Given the description of an element on the screen output the (x, y) to click on. 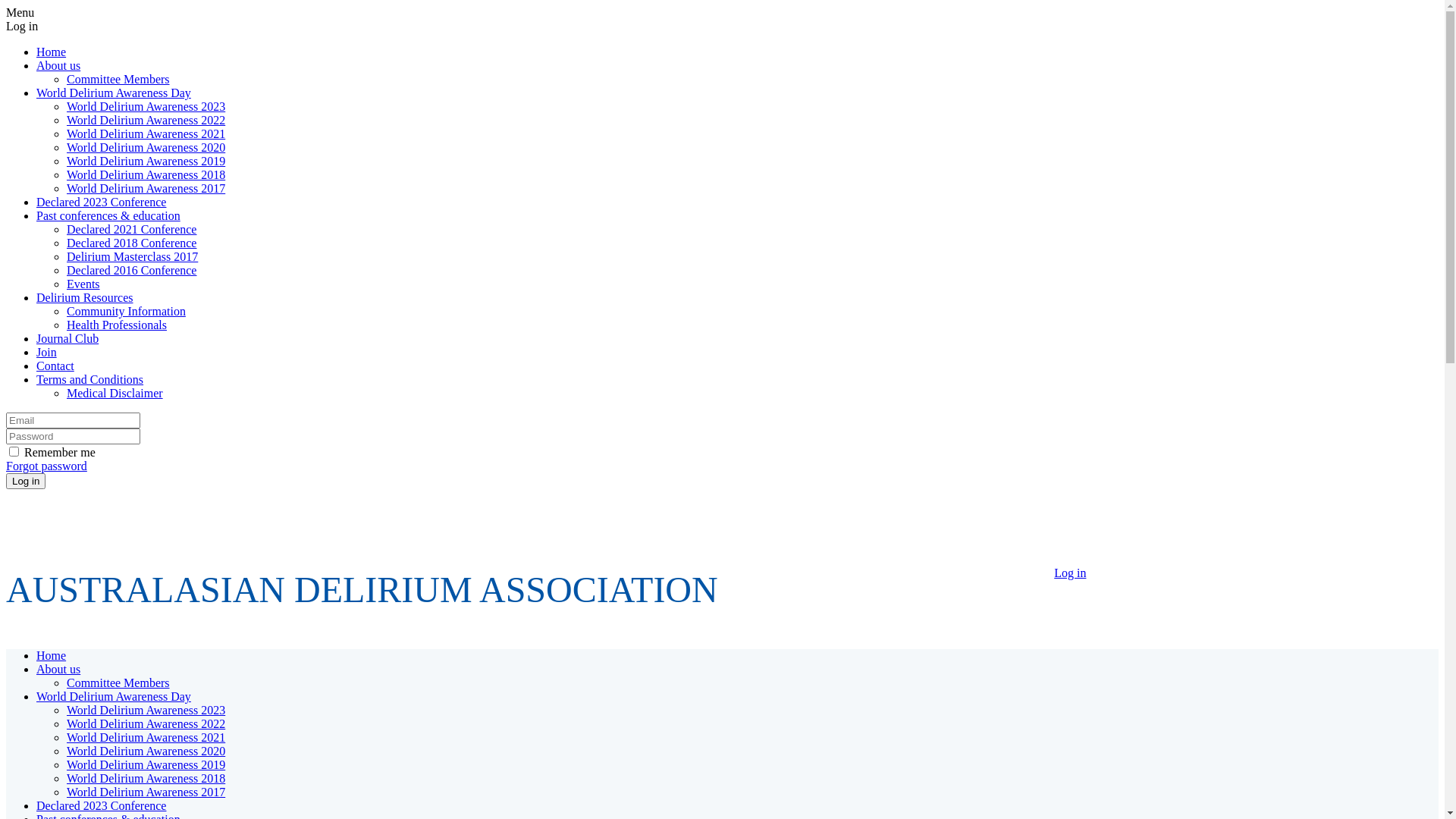
World Delirium Awareness 2019 Element type: text (145, 160)
World Delirium Awareness 2021 Element type: text (145, 133)
World Delirium Awareness 2020 Element type: text (145, 750)
Medical Disclaimer Element type: text (114, 392)
Log in Element type: text (1069, 571)
Declared 2021 Conference Element type: text (131, 228)
Journal Club Element type: text (67, 338)
Community Information Element type: text (125, 310)
World Delirium Awareness 2018 Element type: text (145, 174)
Events Element type: text (83, 283)
Home Element type: text (50, 51)
Health Professionals Element type: text (116, 324)
Home Element type: text (50, 655)
Log in Element type: text (25, 481)
Contact Element type: text (55, 365)
World Delirium Awareness 2022 Element type: text (145, 723)
Forgot password Element type: text (46, 465)
Delirium Resources Element type: text (84, 297)
World Delirium Awareness 2020 Element type: text (145, 147)
World Delirium Awareness Day Element type: text (113, 92)
About us Element type: text (58, 65)
World Delirium Awareness 2017 Element type: text (145, 188)
World Delirium Awareness 2019 Element type: text (145, 764)
About us Element type: text (58, 668)
Declared 2023 Conference Element type: text (101, 201)
World Delirium Awareness 2023 Element type: text (145, 106)
World Delirium Awareness 2023 Element type: text (145, 709)
Delirium Masterclass 2017 Element type: text (131, 256)
Terms and Conditions Element type: text (89, 379)
World Delirium Awareness Day Element type: text (113, 696)
Declared 2016 Conference Element type: text (131, 269)
Committee Members Element type: text (117, 78)
Past conferences & education Element type: text (108, 215)
Committee Members Element type: text (117, 682)
Declared 2018 Conference Element type: text (131, 242)
Join Element type: text (46, 351)
World Delirium Awareness 2017 Element type: text (145, 791)
Declared 2023 Conference Element type: text (101, 805)
World Delirium Awareness 2018 Element type: text (145, 777)
World Delirium Awareness 2022 Element type: text (145, 119)
World Delirium Awareness 2021 Element type: text (145, 737)
